Given the description of an element on the screen output the (x, y) to click on. 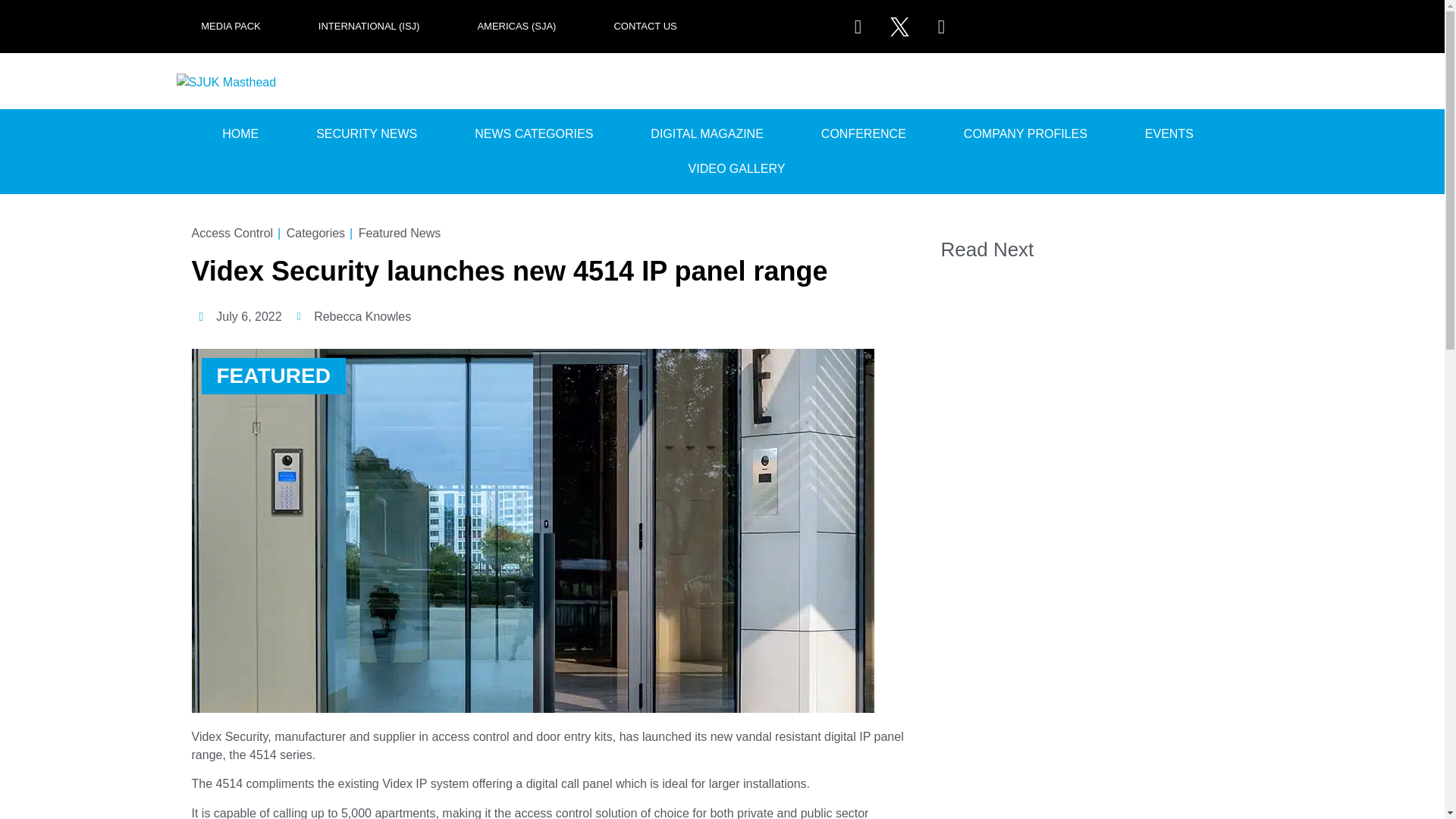
SECURITY NEWS (365, 134)
CONFERENCE (863, 134)
EVENTS (1168, 134)
NEWS CATEGORIES (533, 134)
COMPANY PROFILES (1025, 134)
DIGITAL MAGAZINE (706, 134)
HOME (240, 134)
Categories (315, 233)
Access Control (231, 233)
SJUK Masthead Black (229, 81)
